Given the description of an element on the screen output the (x, y) to click on. 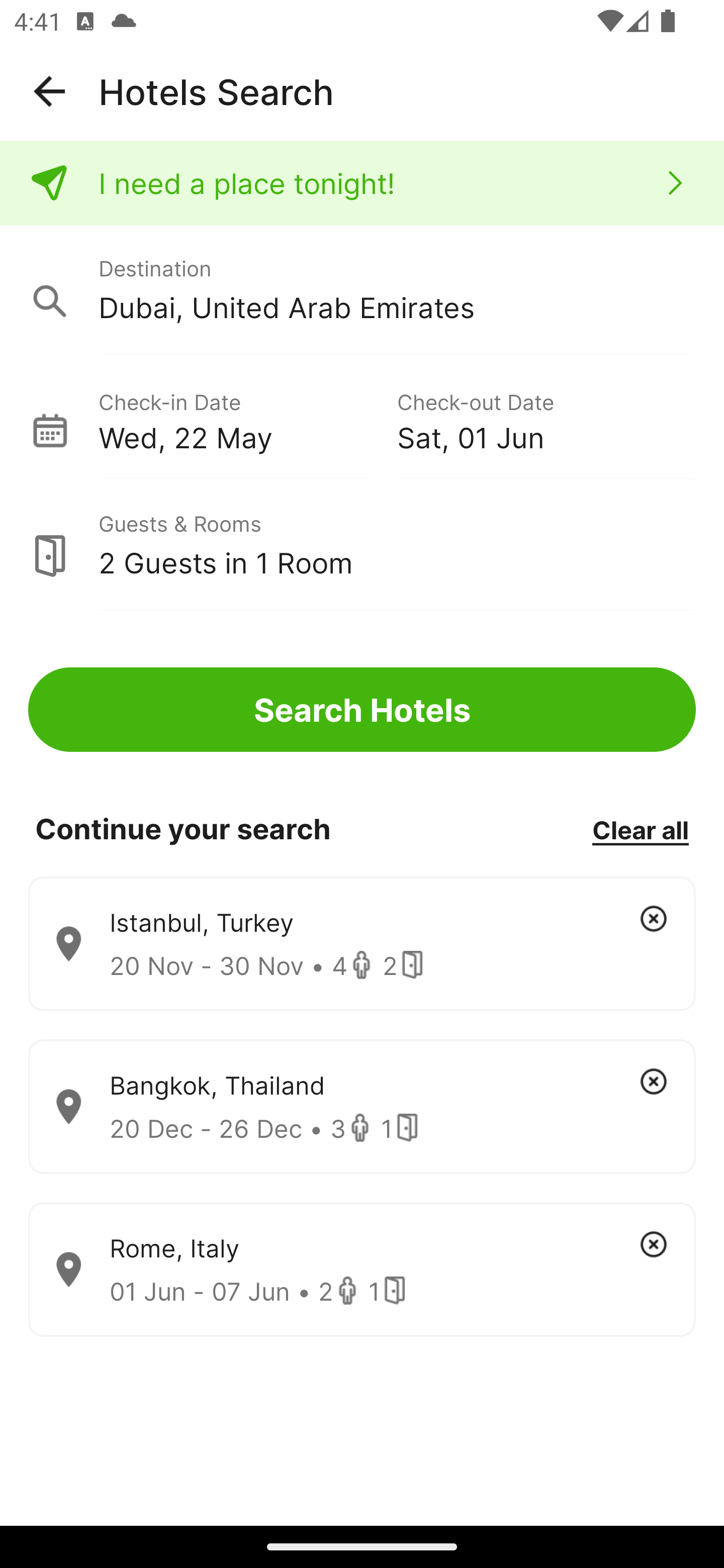
I need a place tonight! (362, 183)
Destination Dubai, United Arab Emirates (362, 290)
Check-in Date Wed, 22 May (247, 418)
Check-out Date Sat, 01 Jun (546, 418)
Guests & Rooms 2 Guests in 1 Room (362, 545)
Search Hotels (361, 709)
Clear all (640, 829)
Istanbul, Turkey 20 Nov - 30 Nov • 4  2  (361, 943)
Bangkok, Thailand 20 Dec - 26 Dec • 3  1  (361, 1106)
Rome, Italy 01 Jun - 07 Jun • 2  1  (361, 1269)
